Given the description of an element on the screen output the (x, y) to click on. 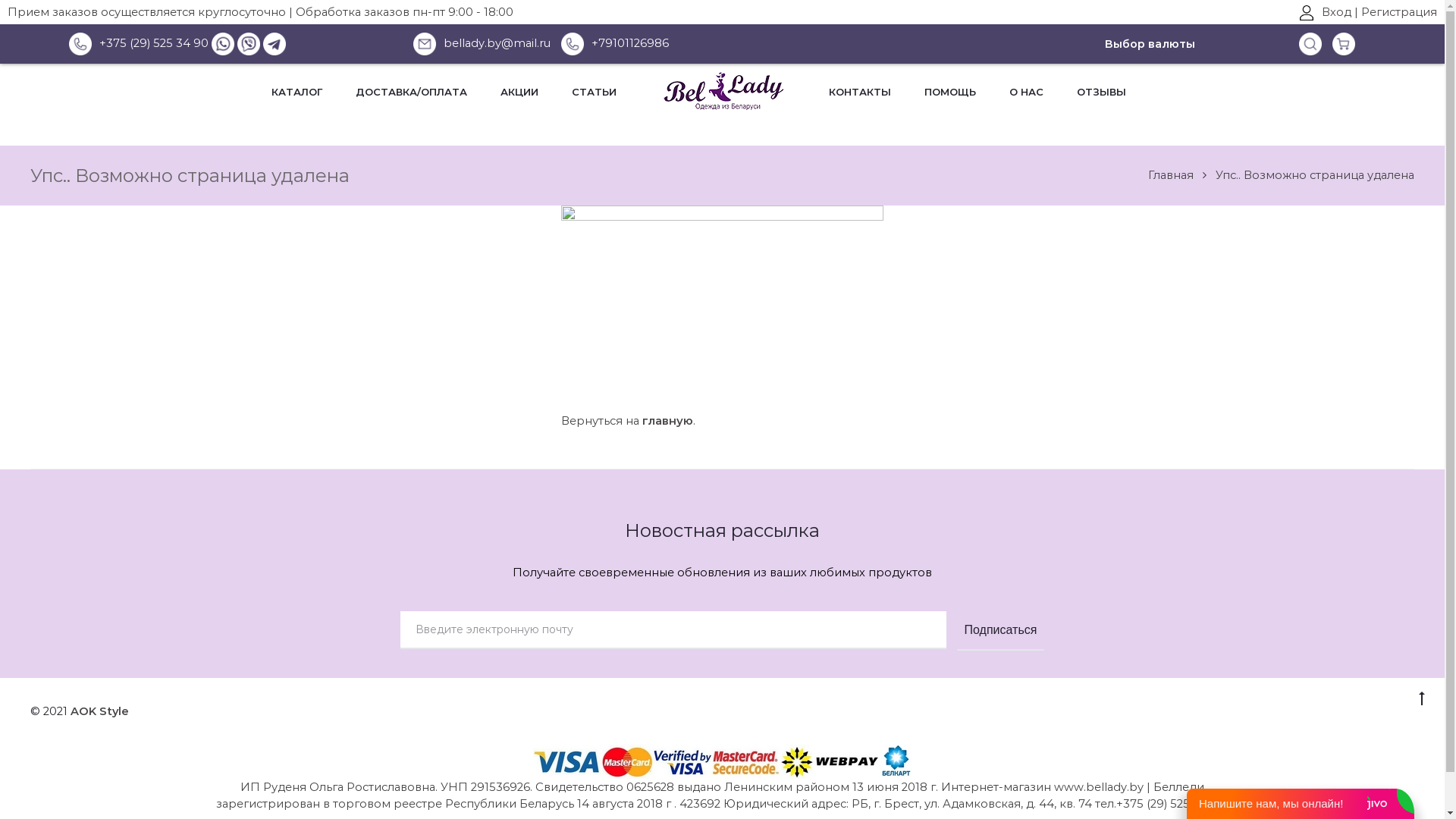
bellady.by@mail.ru Element type: text (485, 43)
+375 (29) 525 34 90 Element type: text (138, 43)
+79101126986 Element type: text (614, 43)
AOK Style Element type: text (99, 711)
